Given the description of an element on the screen output the (x, y) to click on. 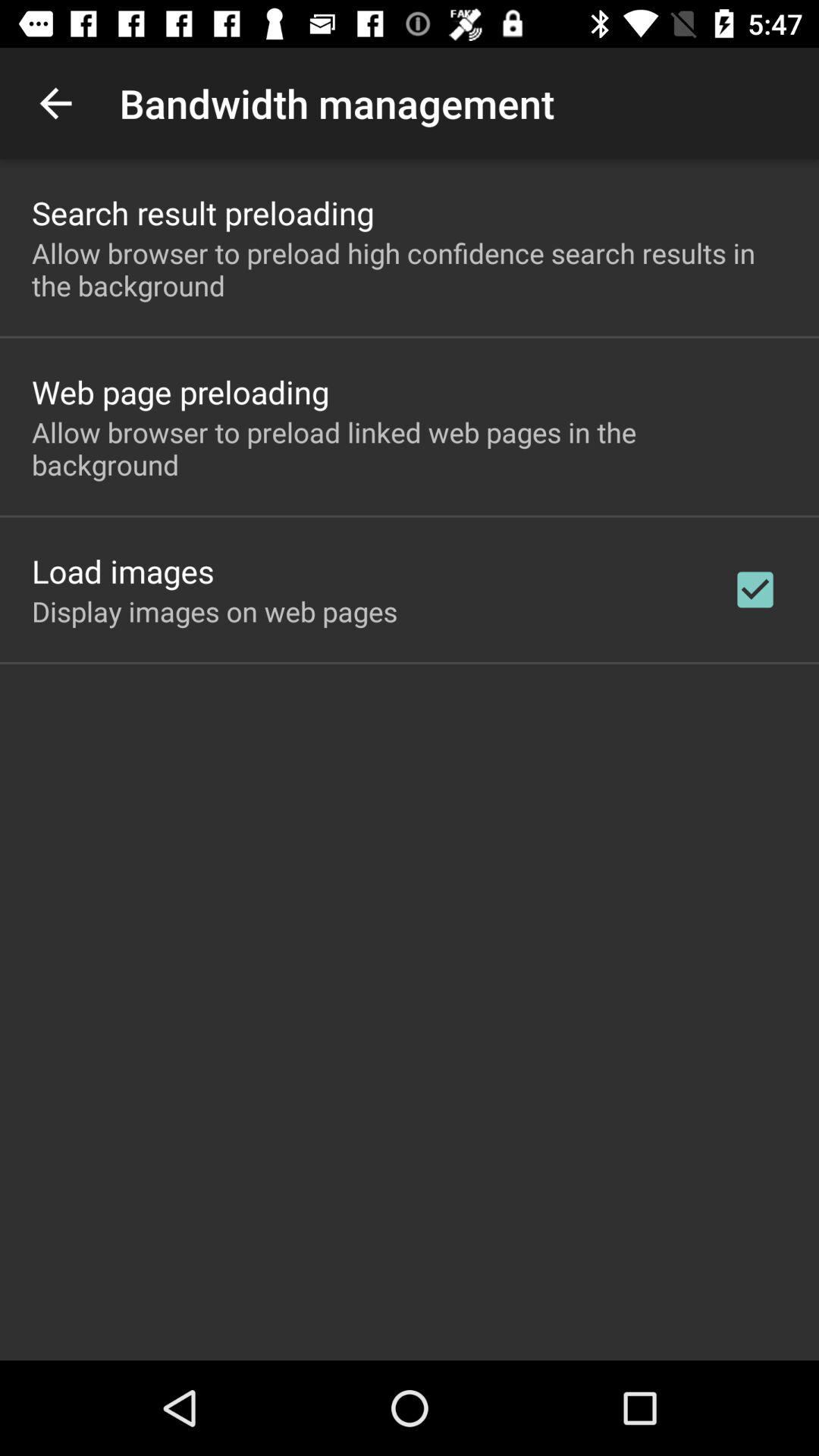
swipe to display images on icon (214, 611)
